Given the description of an element on the screen output the (x, y) to click on. 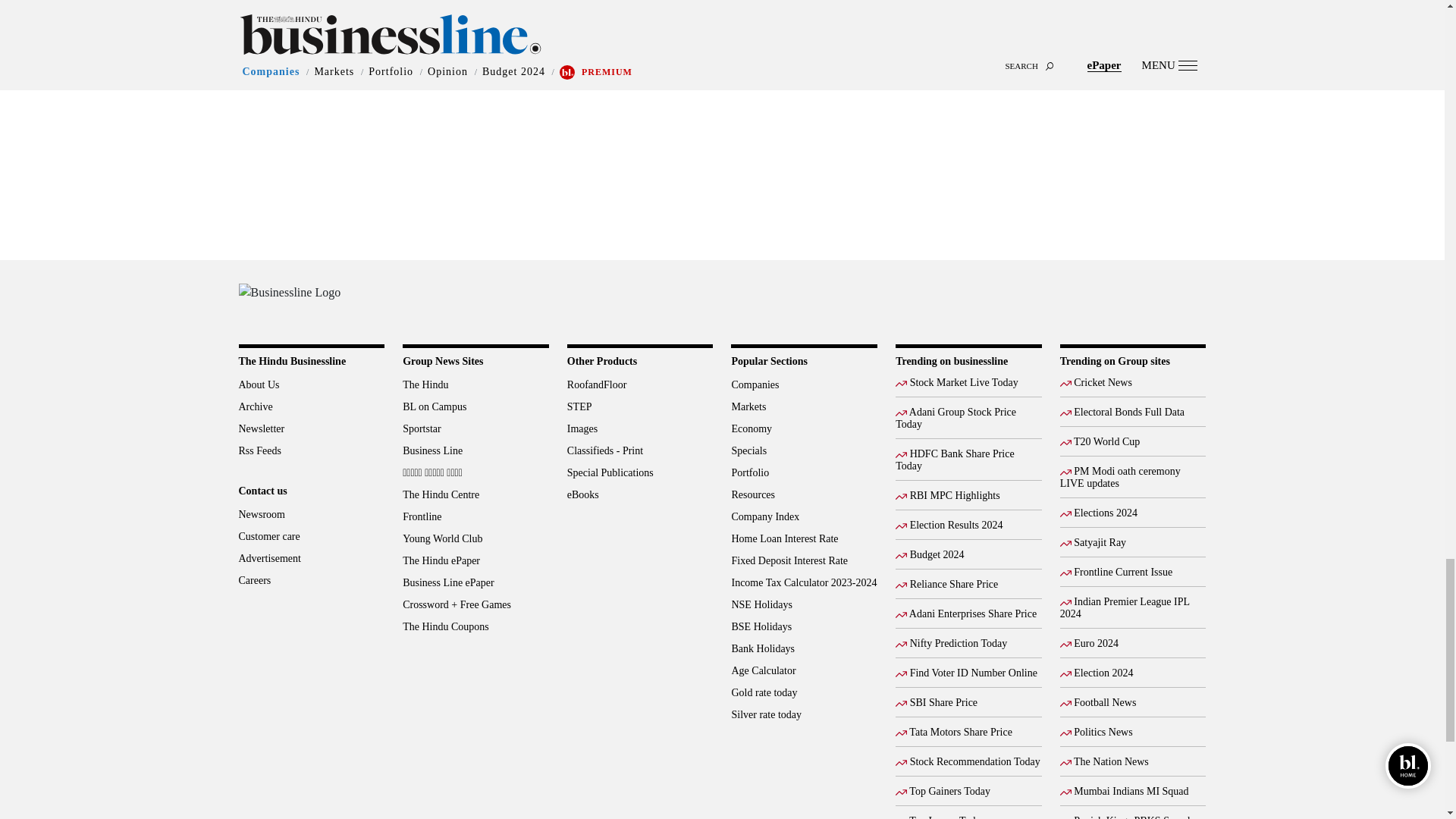
Google Play (1130, 300)
